Given the description of an element on the screen output the (x, y) to click on. 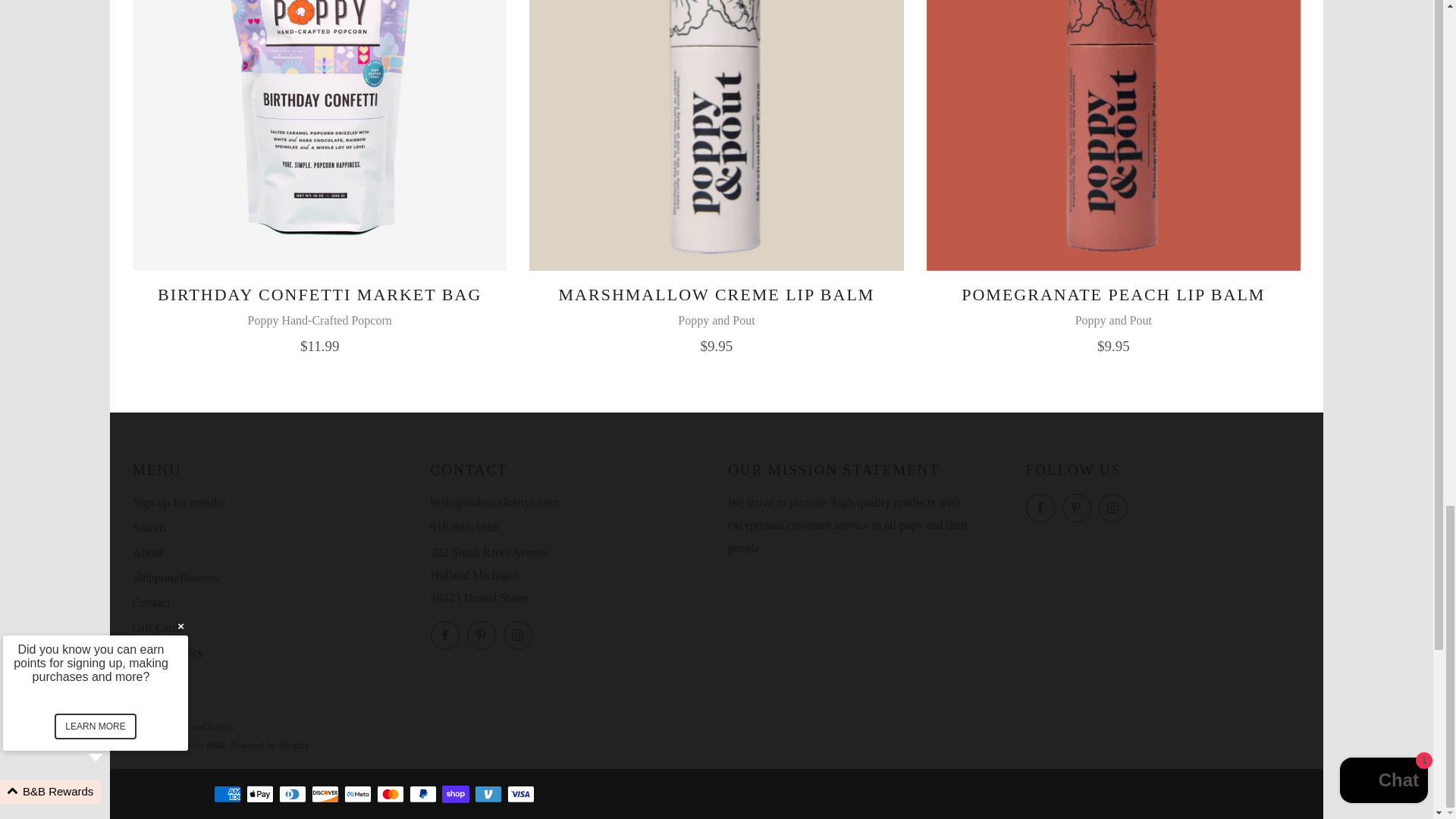
Marshmallow Creme Lip Balm (715, 135)
Pomegranate Peach Lip Balm (1113, 316)
Birthday Confetti Market Bag (319, 316)
Birthday Confetti Market Bag (319, 135)
Pomegranate Peach Lip Balm (1113, 135)
Marshmallow Creme Lip Balm (715, 316)
